Given the description of an element on the screen output the (x, y) to click on. 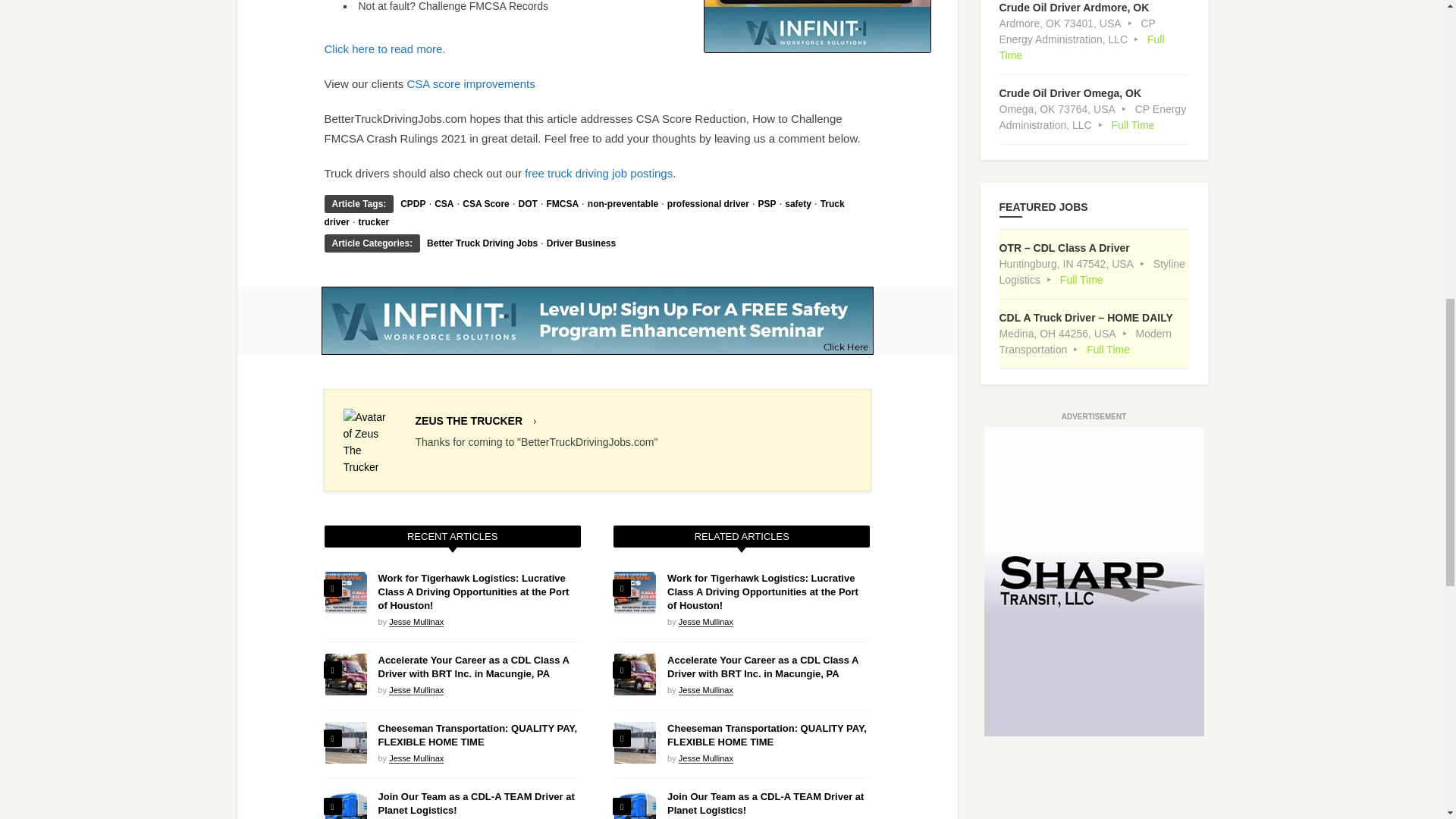
Cheeseman Transportation: QUALITY PAY, FLEXIBLE HOME TIME 4 (345, 742)
Posts by Jesse Mullinax (416, 690)
CPDP (412, 204)
Posts by Jesse Mullinax (705, 622)
Posts by Zeus The Trucker (468, 420)
CSA (442, 204)
DOT (527, 204)
Posts by Jesse Mullinax (416, 758)
CSA Score (486, 204)
Click here to read more. (384, 48)
Posts by Jesse Mullinax (416, 622)
free truck driving job postings (598, 173)
